Given the description of an element on the screen output the (x, y) to click on. 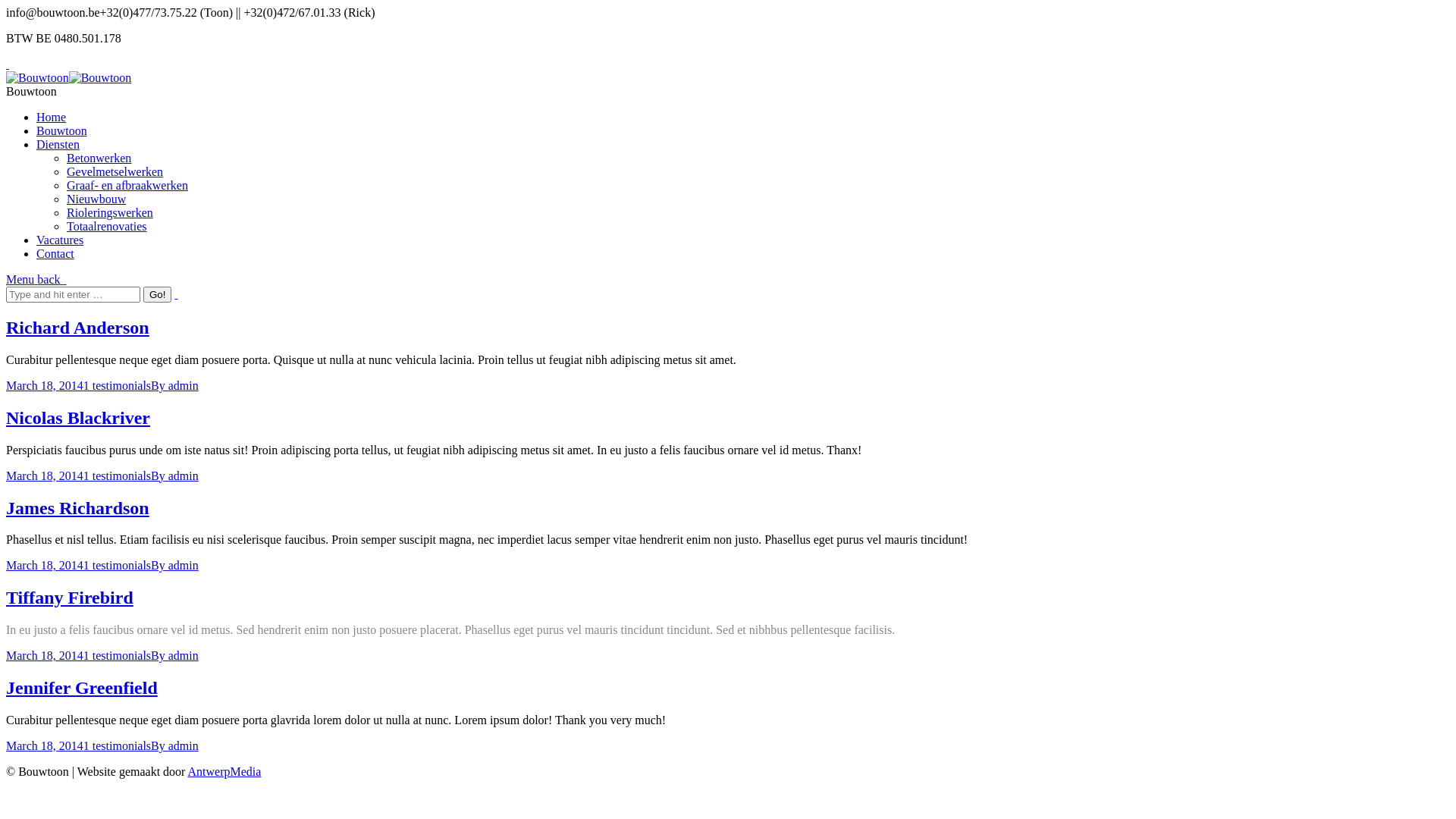
By admin Element type: text (174, 564)
March 18, 2014 Element type: text (44, 475)
  Element type: text (7, 63)
Home Element type: text (50, 116)
James Richardson Element type: text (77, 507)
Gevelmetselwerken Element type: text (114, 171)
Rioleringswerken Element type: text (109, 212)
  Element type: text (175, 293)
Menu back   Element type: text (36, 279)
Jennifer Greenfield Element type: text (81, 687)
March 18, 2014 Element type: text (44, 385)
Diensten Element type: text (57, 144)
Graaf- en afbraakwerken Element type: text (127, 184)
Richard Anderson Element type: text (77, 327)
1 testimonials Element type: text (116, 745)
By admin Element type: text (174, 385)
1 testimonials Element type: text (116, 564)
March 18, 2014 Element type: text (44, 655)
Go! Element type: text (157, 294)
Nieuwbouw Element type: text (95, 198)
By admin Element type: text (174, 475)
Tiffany Firebird Element type: text (69, 597)
1 testimonials Element type: text (116, 385)
Vacatures Element type: text (59, 239)
By admin Element type: text (174, 745)
Bouwtoon Element type: text (61, 130)
AntwerpMedia Element type: text (224, 771)
Totaalrenovaties Element type: text (106, 225)
Contact Element type: text (55, 253)
Nicolas Blackriver Element type: text (78, 417)
March 18, 2014 Element type: text (44, 745)
By admin Element type: text (174, 655)
1 testimonials Element type: text (116, 475)
March 18, 2014 Element type: text (44, 564)
Betonwerken Element type: text (98, 157)
1 testimonials Element type: text (116, 655)
